Given the description of an element on the screen output the (x, y) to click on. 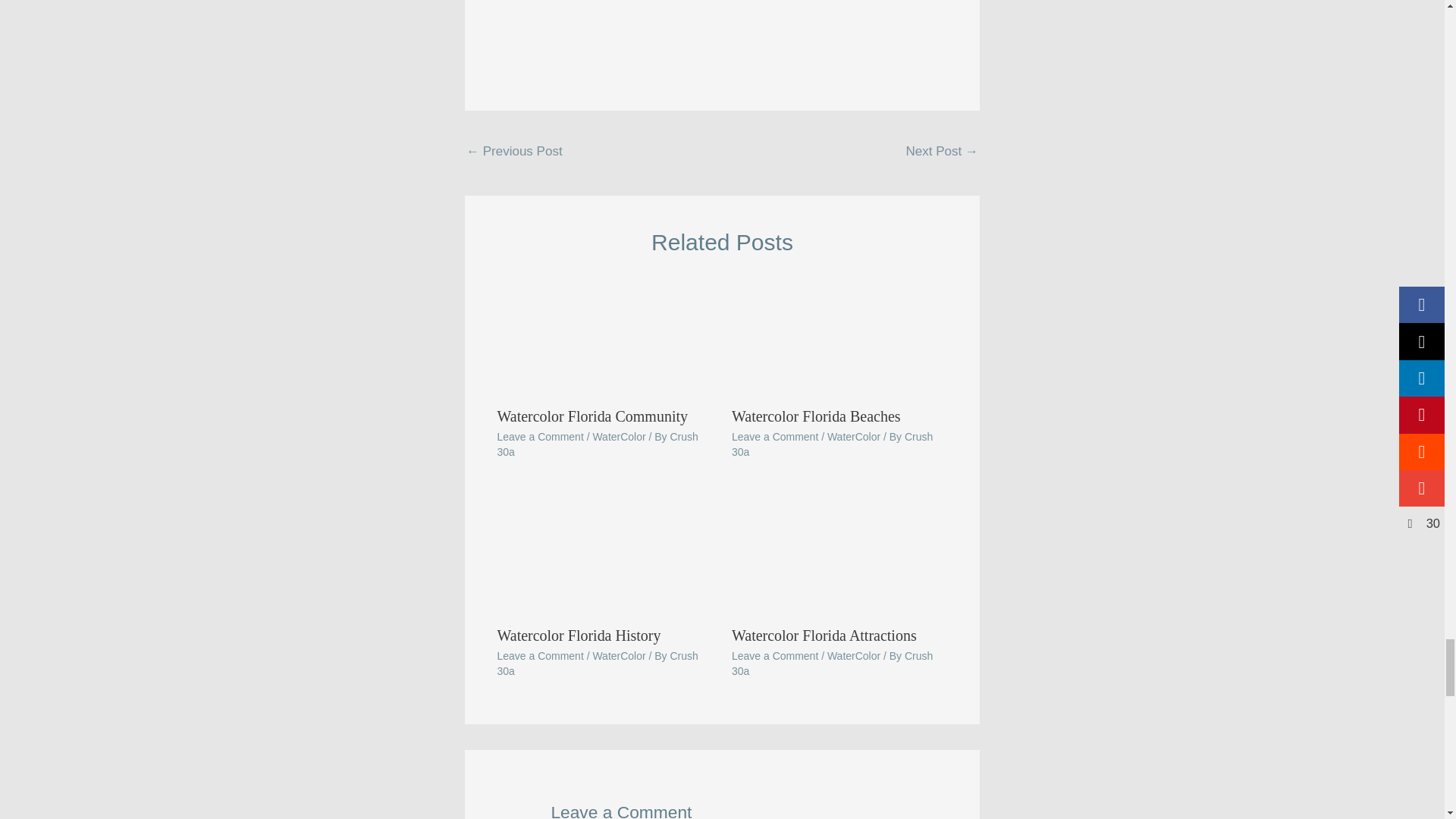
View all posts by Crush 30a (597, 663)
Shopping In Watercolor Florida (941, 153)
View all posts by Crush 30a (832, 663)
View all posts by Crush 30a (832, 443)
Watercolor Florida Weddings (513, 153)
View all posts by Crush 30a (597, 443)
